Given the description of an element on the screen output the (x, y) to click on. 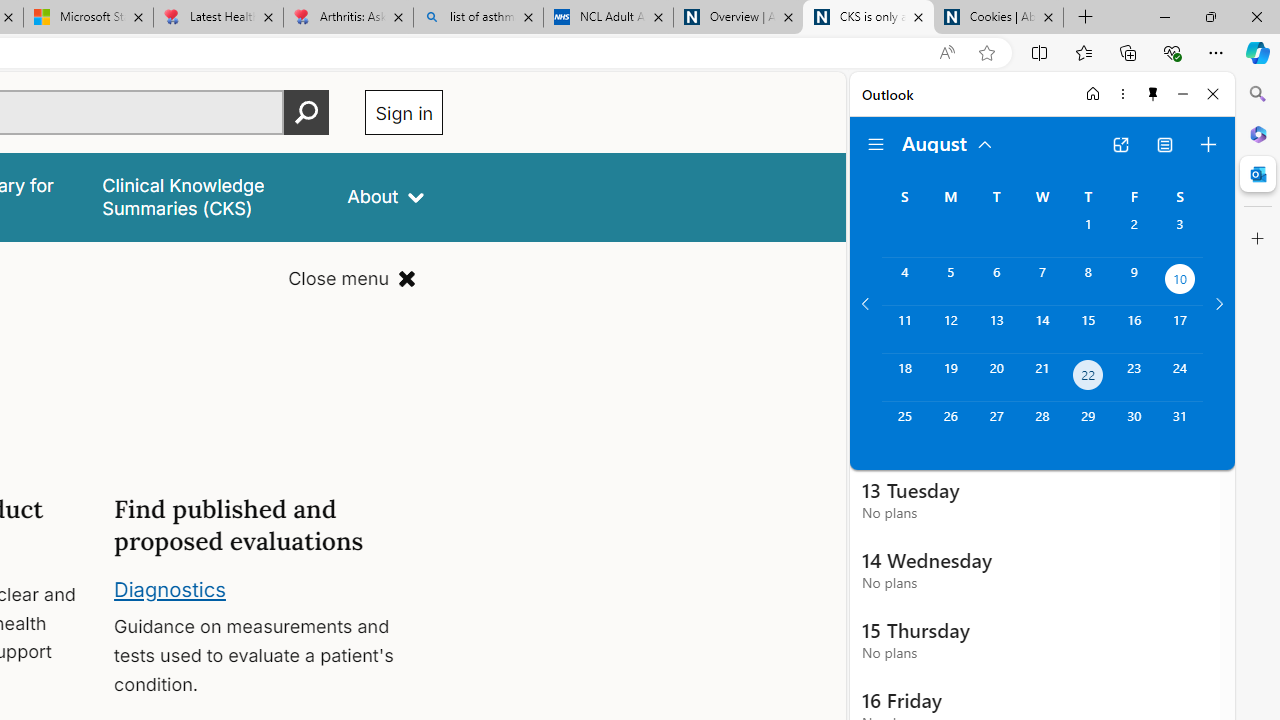
Wednesday, August 7, 2024.  (1042, 281)
Folder navigation (876, 144)
Friday, August 16, 2024.  (1134, 329)
Thursday, August 15, 2024.  (1088, 329)
false (207, 196)
Thursday, August 22, 2024. Today.  (1088, 377)
Monday, August 12, 2024.  (950, 329)
Thursday, August 29, 2024.  (1088, 425)
Sunday, August 11, 2024.  (904, 329)
Arthritis: Ask Health Professionals (348, 17)
list of asthma inhalers uk - Search (477, 17)
Sign in (404, 112)
CKS is only available in the UK | NICE (868, 17)
